Given the description of an element on the screen output the (x, y) to click on. 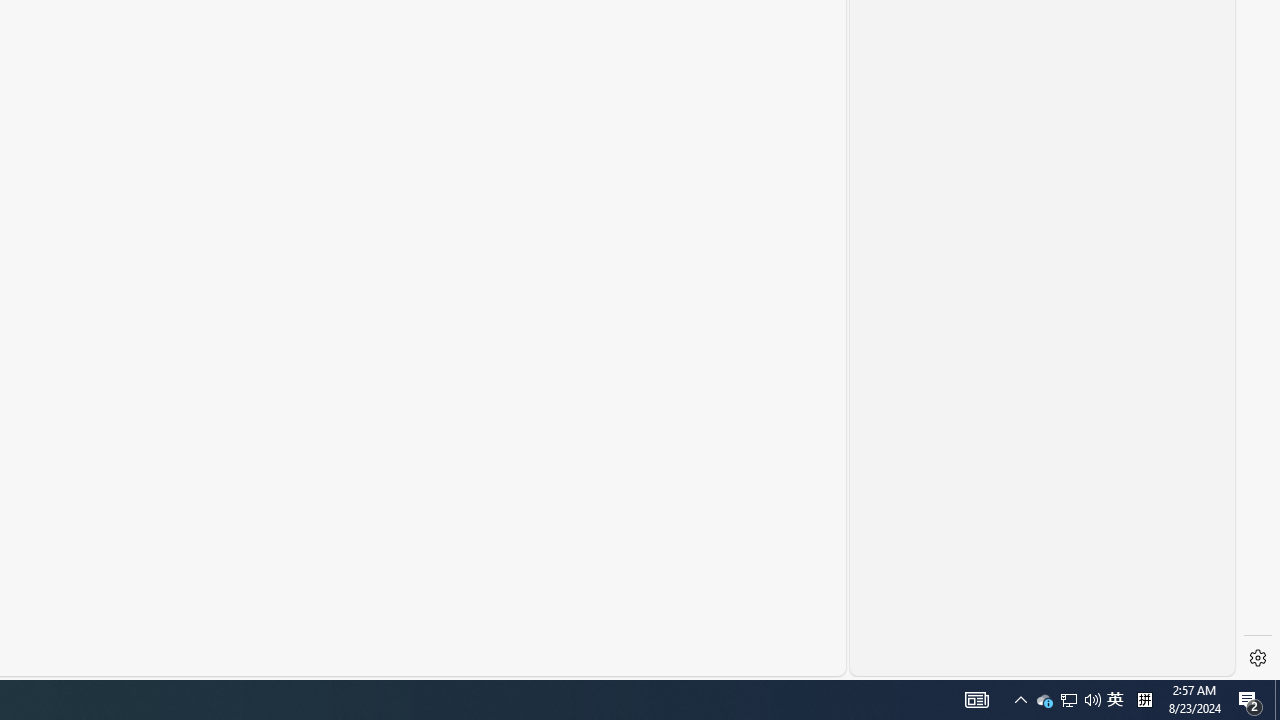
AutomationID: 4105 (1115, 699)
Tray Input Indicator - Chinese (Simplified, China) (1044, 699)
Action Center, 2 new notifications (976, 699)
